Given the description of an element on the screen output the (x, y) to click on. 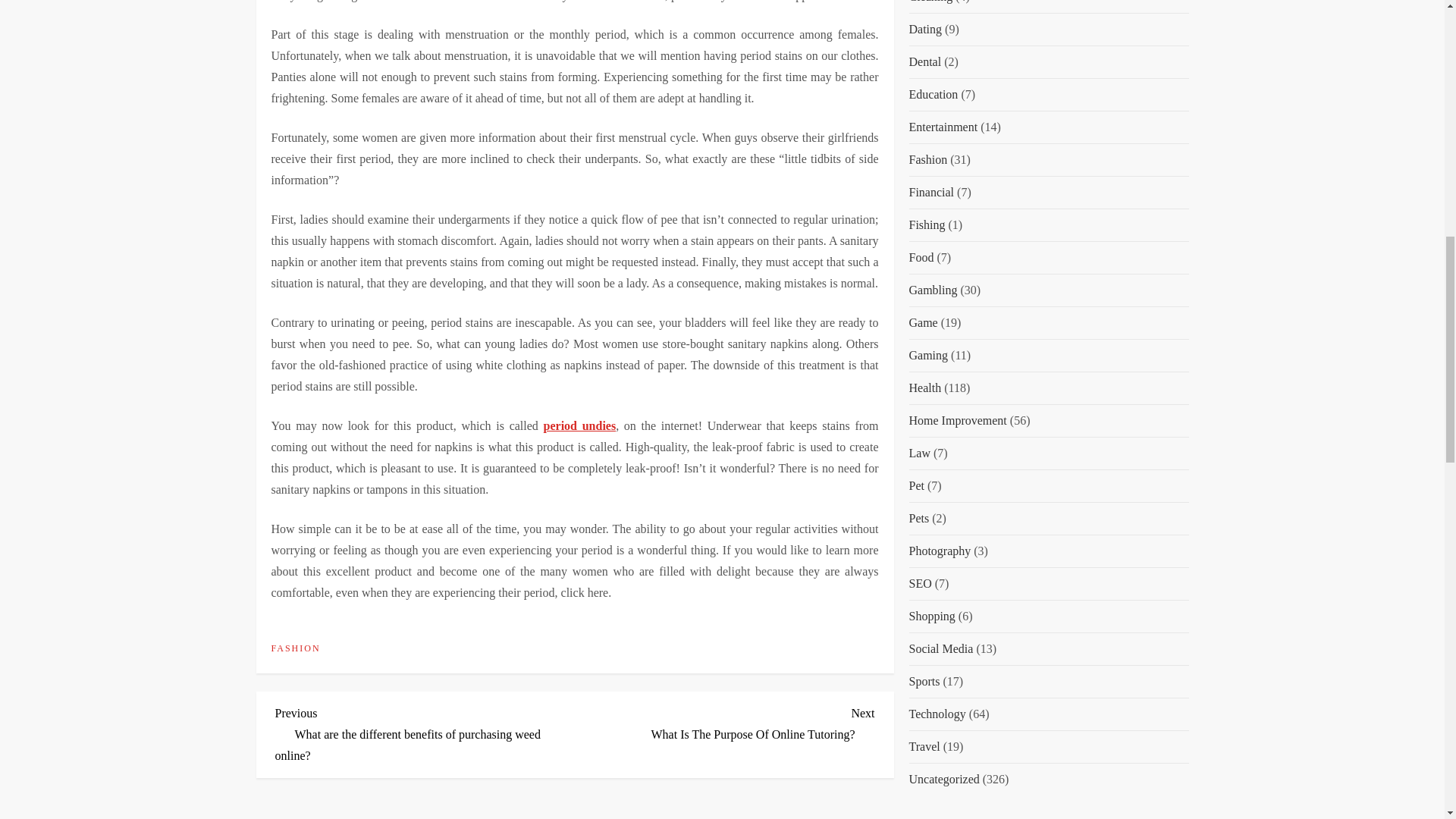
period undies (579, 425)
Law (919, 45)
Photography (725, 721)
Home Improvement (939, 142)
SEO (957, 12)
Pets (919, 175)
FASHION (918, 110)
